Given the description of an element on the screen output the (x, y) to click on. 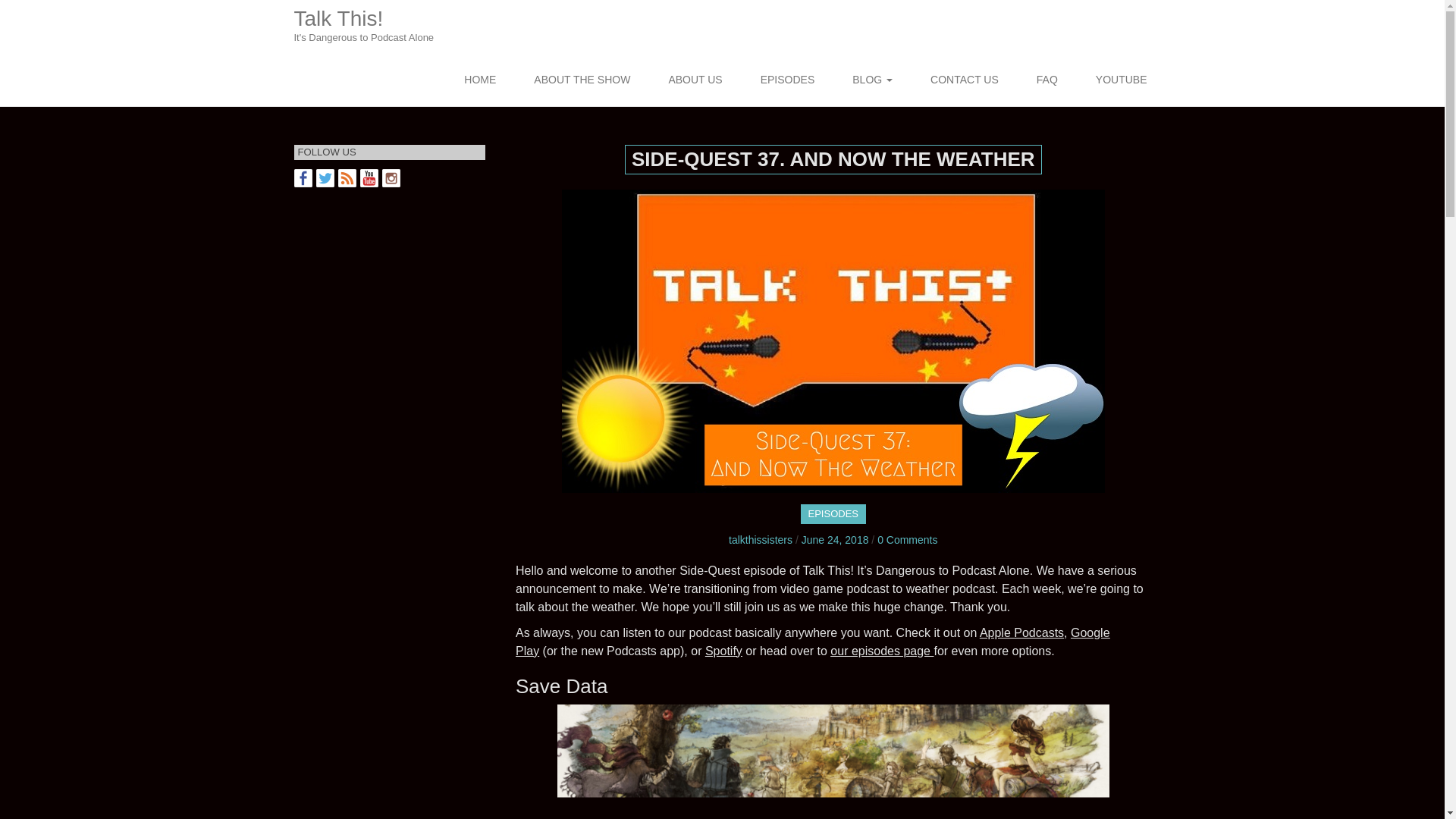
Subscribe to our RSS Feed (346, 177)
talkthissisters (375, 26)
ABOUT THE SHOW (760, 539)
Google Play (582, 81)
YOUTUBE (812, 641)
EPISODES (1121, 81)
EPISODES (787, 81)
Follow us on Twitter (833, 514)
Follow us on Facebook (324, 177)
Apple Podcasts (303, 177)
Check out our instagram feed (1021, 632)
our episodes page (390, 177)
CONTACT US (879, 650)
FAQ (964, 81)
